Given the description of an element on the screen output the (x, y) to click on. 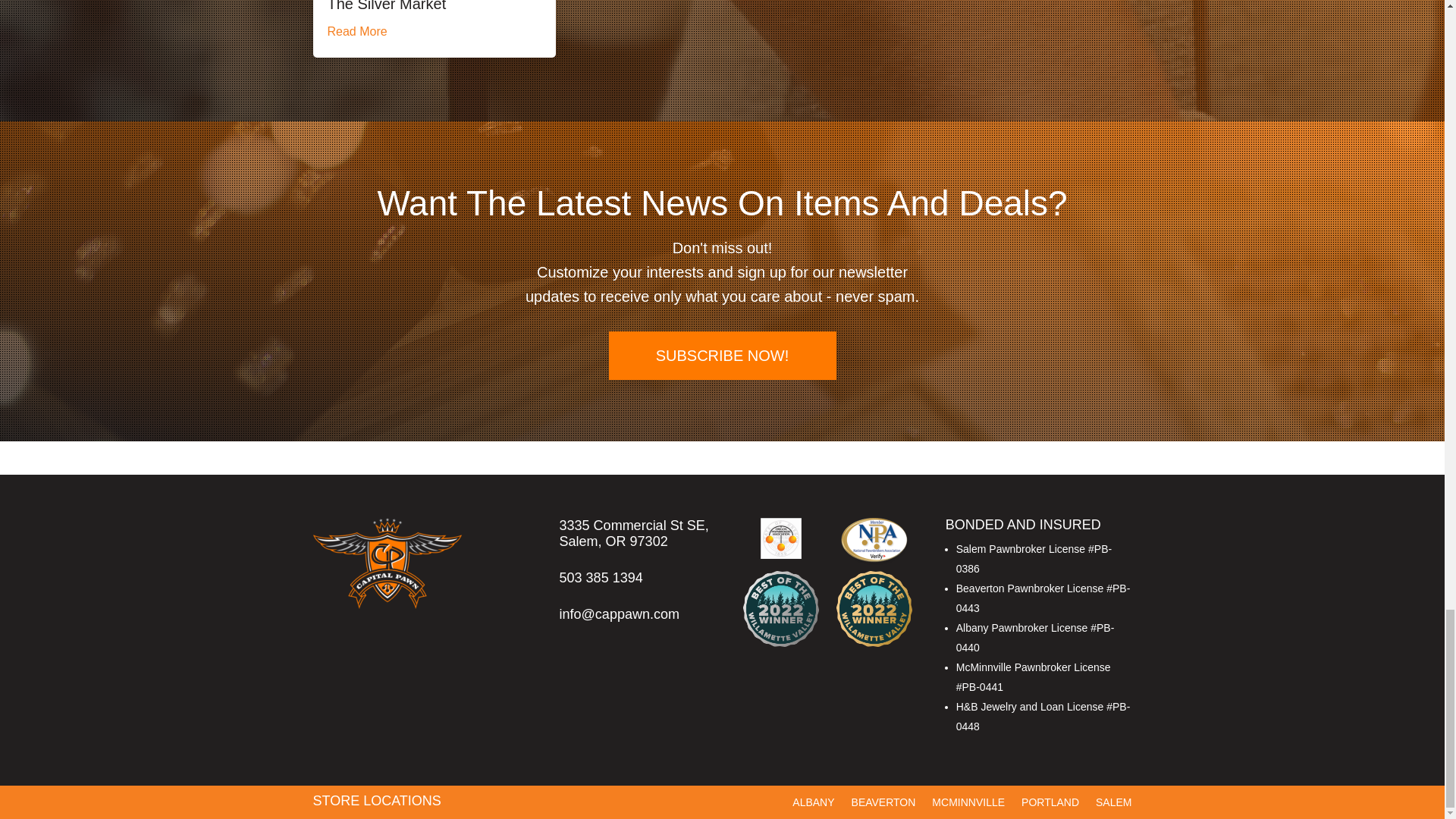
seal (874, 541)
Yelp (1075, 798)
ebay (1037, 792)
Logo (387, 563)
google (1122, 798)
Youtube (1097, 798)
Facebook (1001, 798)
